Given the description of an element on the screen output the (x, y) to click on. 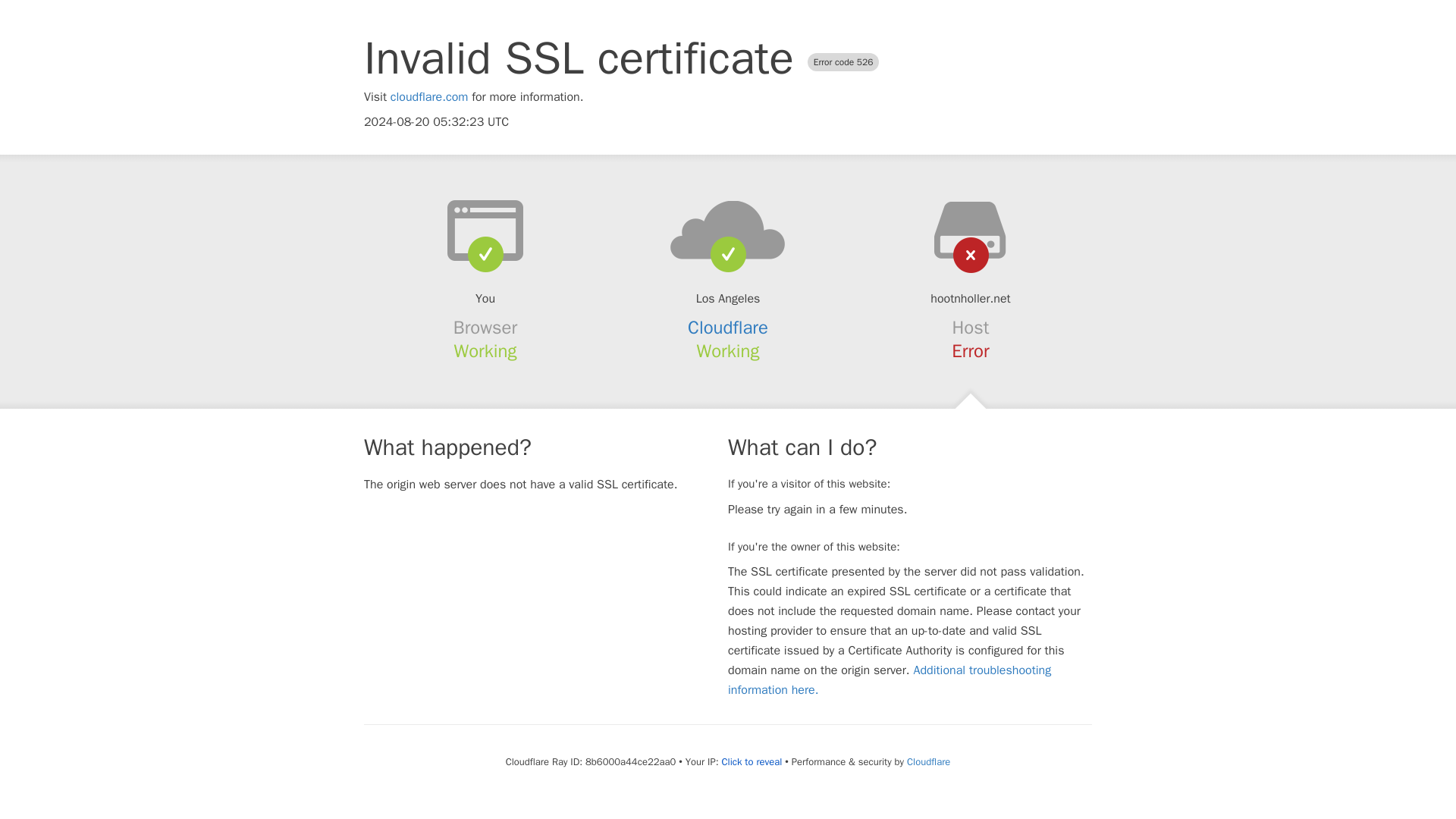
Cloudflare (727, 327)
cloudflare.com (429, 96)
Additional troubleshooting information here. (889, 679)
Cloudflare (928, 761)
Click to reveal (750, 762)
